Given the description of an element on the screen output the (x, y) to click on. 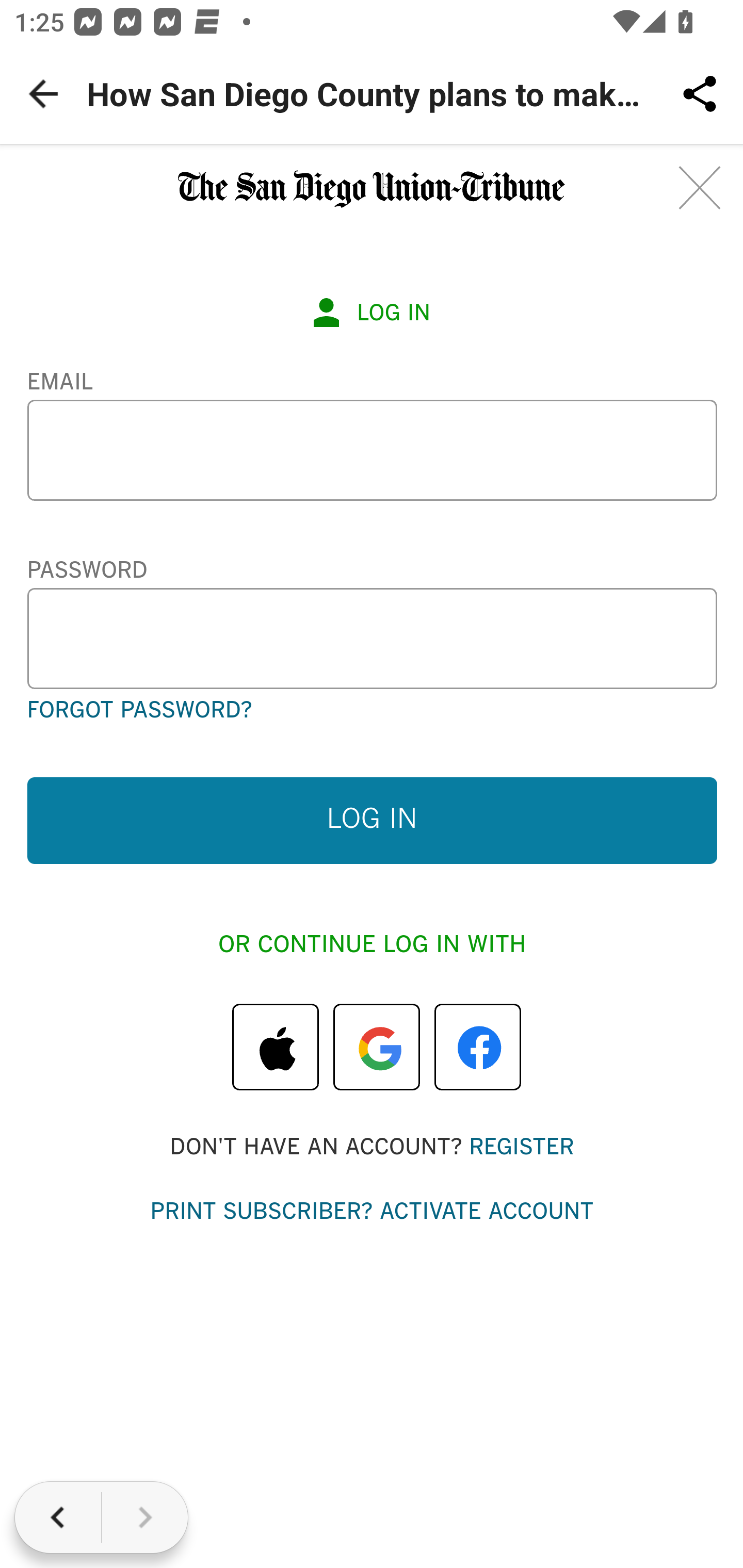
FORGOT PASSWORD? (138, 710)
LOG IN (371, 819)
REGISTER (520, 1147)
PRINT SUBSCRIBER? ACTIVATE ACCOUNT (371, 1212)
